Given the description of an element on the screen output the (x, y) to click on. 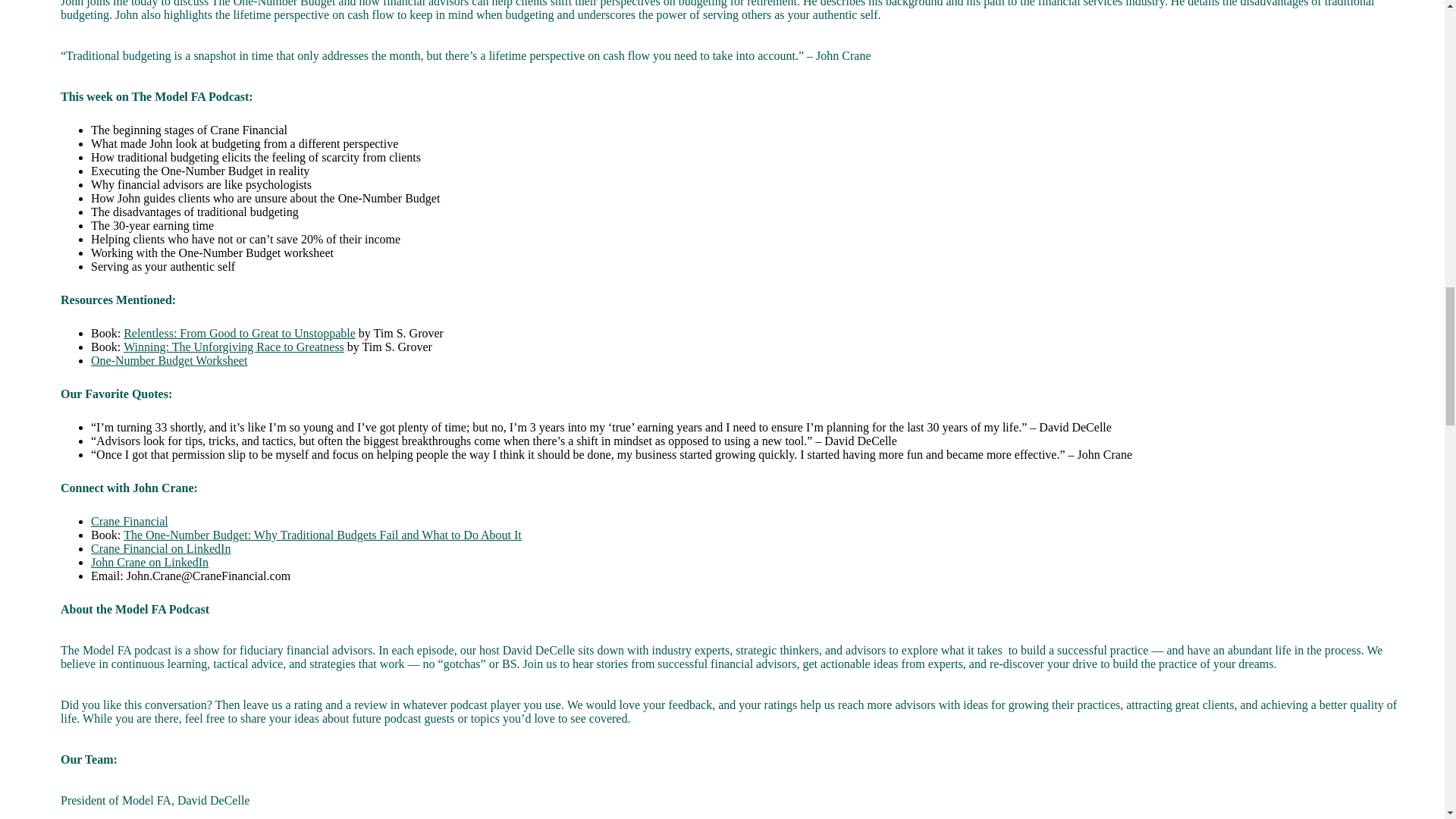
Relentless: From Good to Great to Unstoppable (239, 332)
Winning: The Unforgiving Race to Greatness (233, 346)
